Given the description of an element on the screen output the (x, y) to click on. 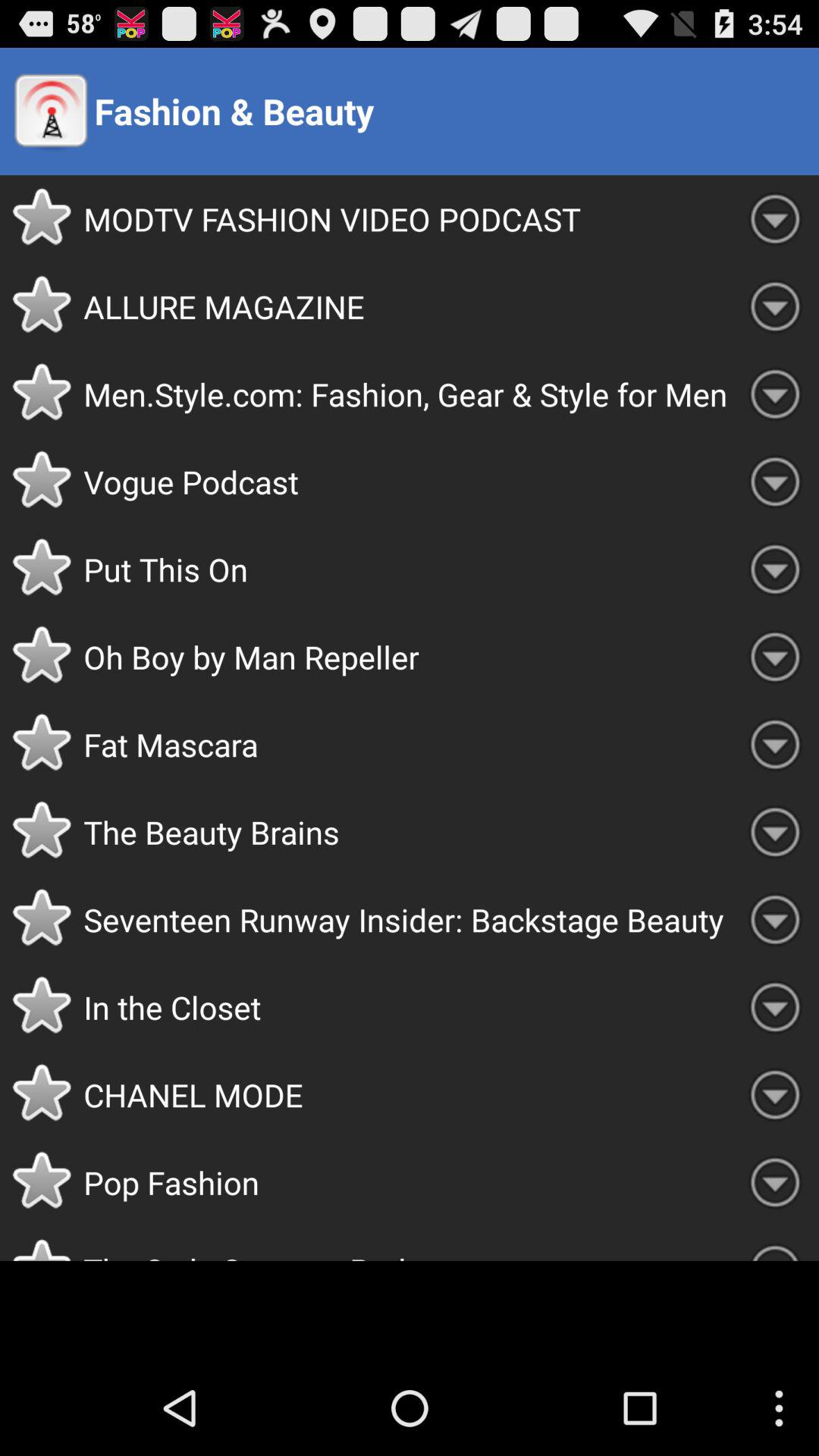
choose the item below allure magazine item (407, 393)
